Given the description of an element on the screen output the (x, y) to click on. 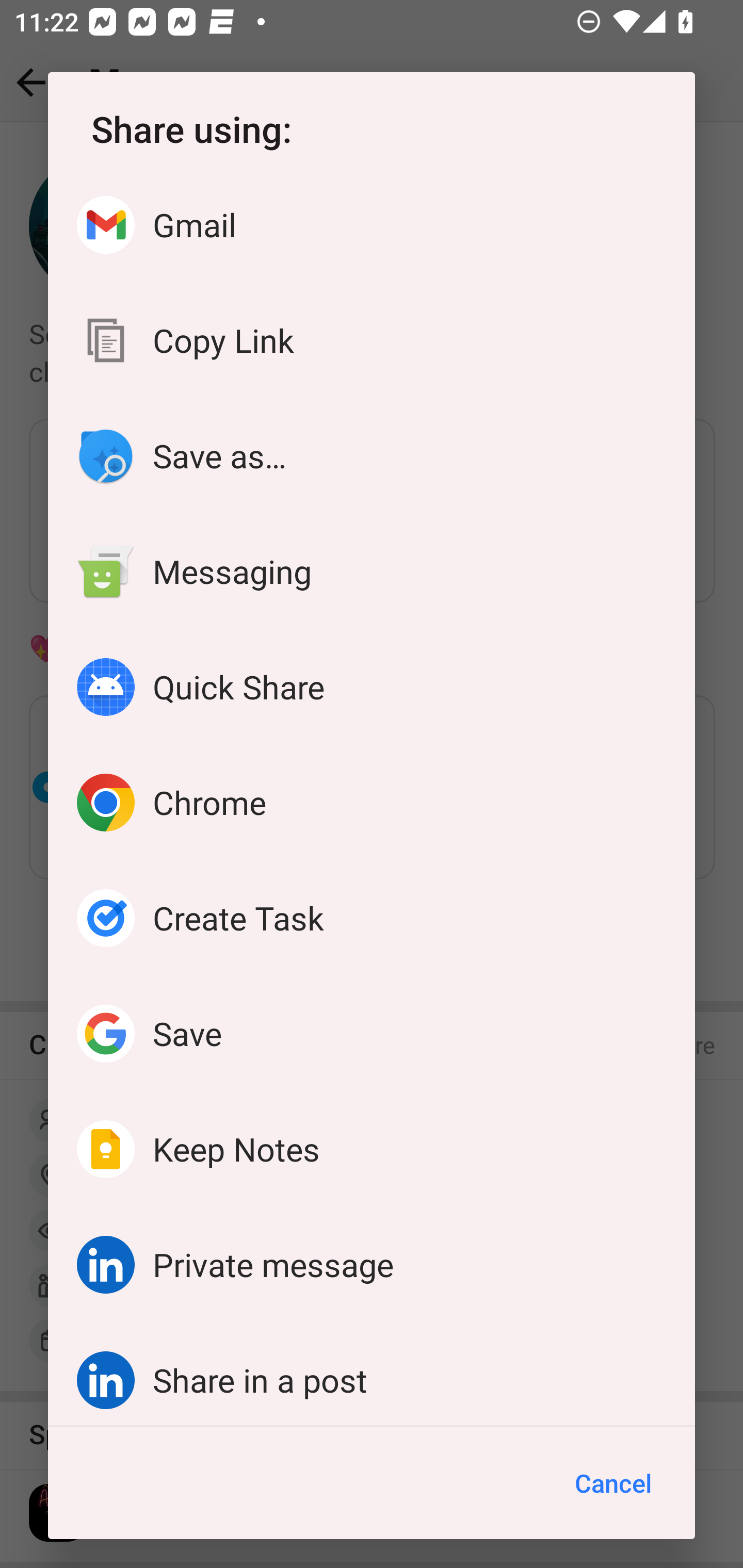
Gmail (371, 224)
Copy Link (371, 340)
Save as… (371, 456)
Messaging (371, 571)
Quick Share (371, 686)
Chrome (371, 802)
Create Task (371, 917)
Save (371, 1033)
Keep Notes (371, 1149)
Private message (371, 1264)
Share in a post (371, 1373)
Cancel (612, 1482)
